Given the description of an element on the screen output the (x, y) to click on. 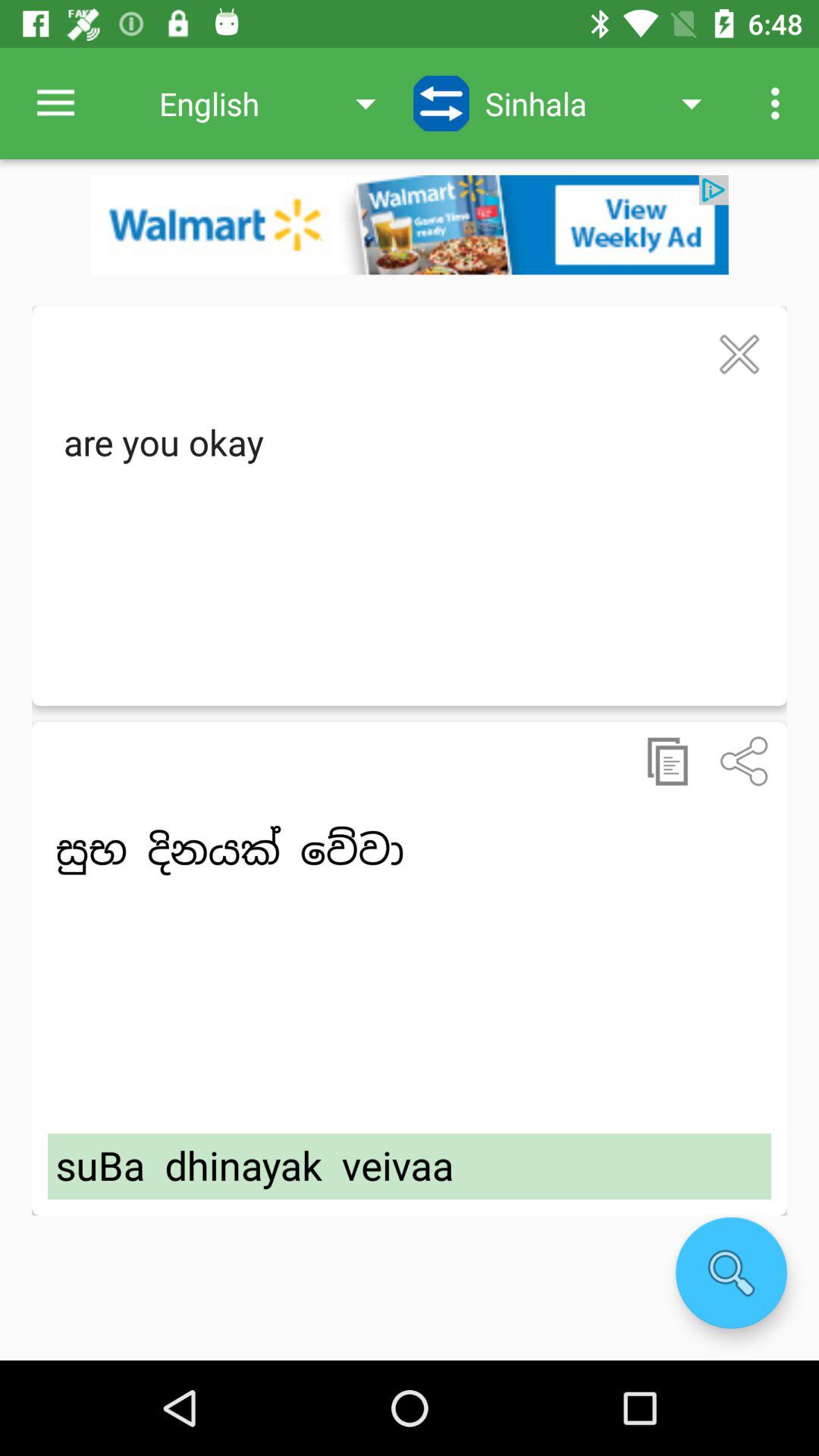
make advertisement (409, 224)
